Given the description of an element on the screen output the (x, y) to click on. 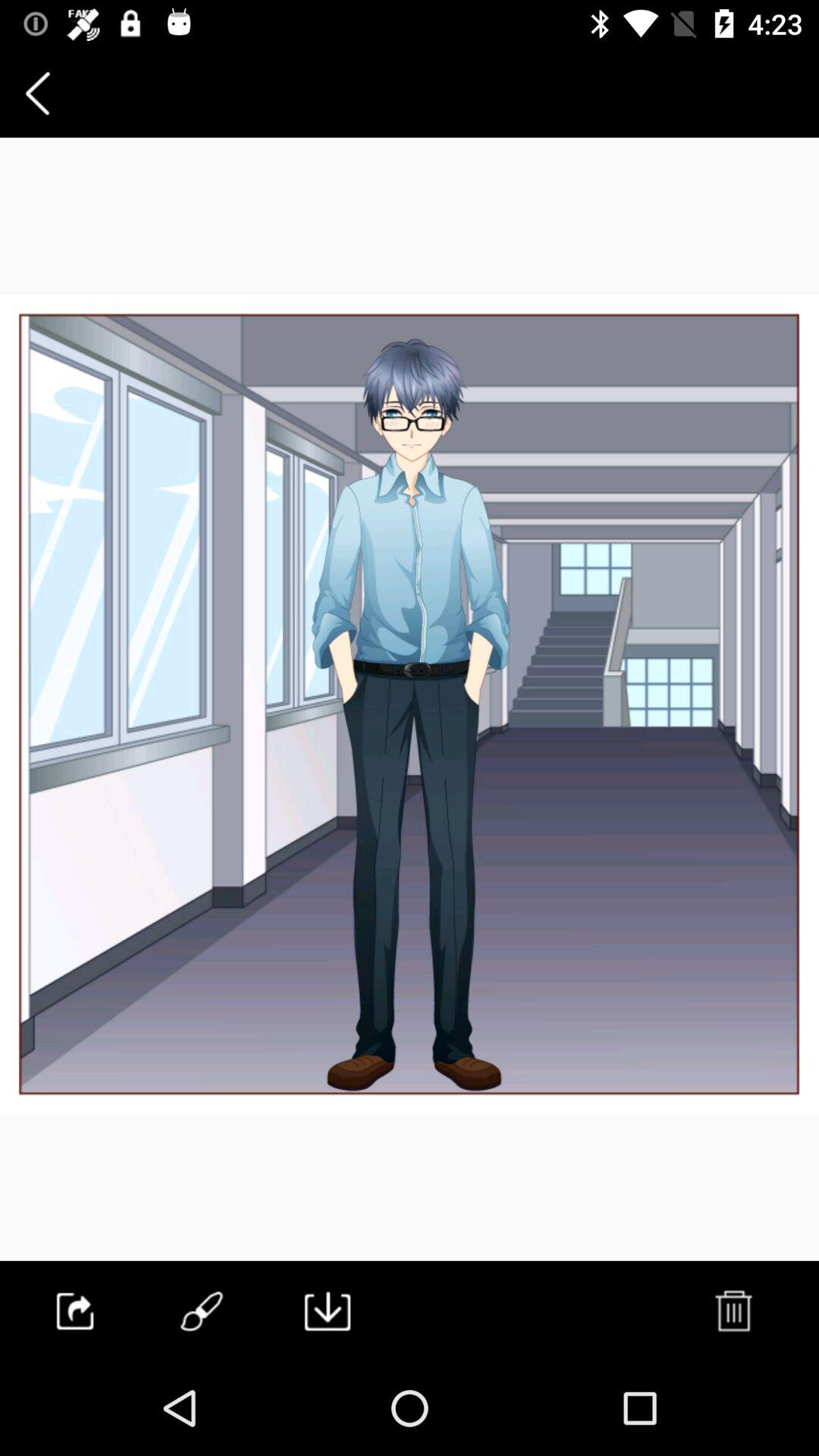
launch the item at the top left corner (37, 92)
